Given the description of an element on the screen output the (x, y) to click on. 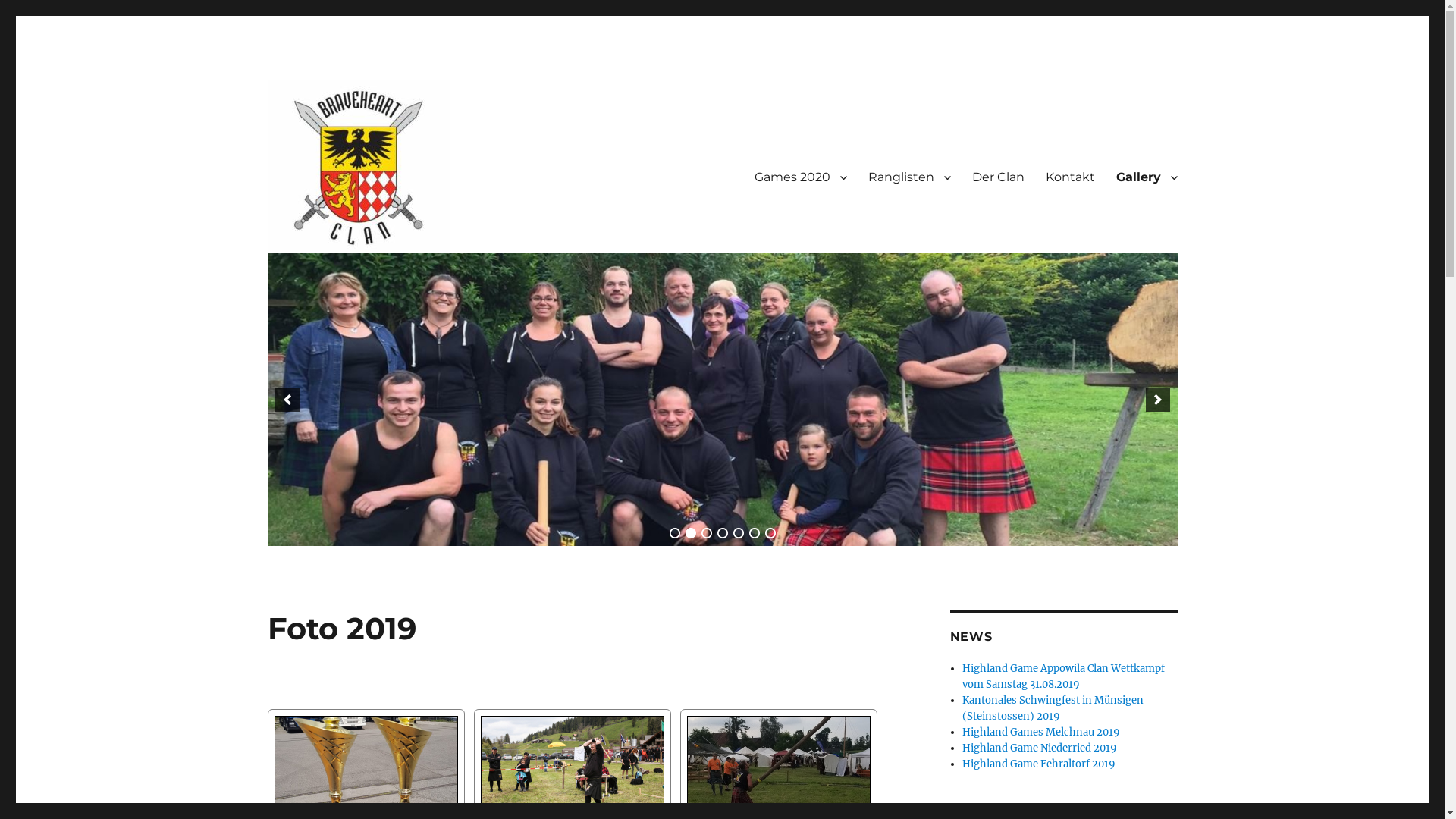
Games 2020 Element type: text (799, 176)
Kontakt Element type: text (1069, 176)
Der Clan Element type: text (998, 176)
Braveheart-Clan Element type: text (356, 276)
Highland Game Fehraltorf 2019 Element type: text (1038, 763)
Gallery Element type: text (1146, 176)
Ranglisten Element type: text (908, 176)
Highland Game Appowila Clan Wettkampf vom Samstag 31.08.2019 Element type: text (1063, 676)
Highland Games Melchnau 2019 Element type: text (1041, 731)
Highland Game Niederried 2019 Element type: text (1039, 747)
